Given the description of an element on the screen output the (x, y) to click on. 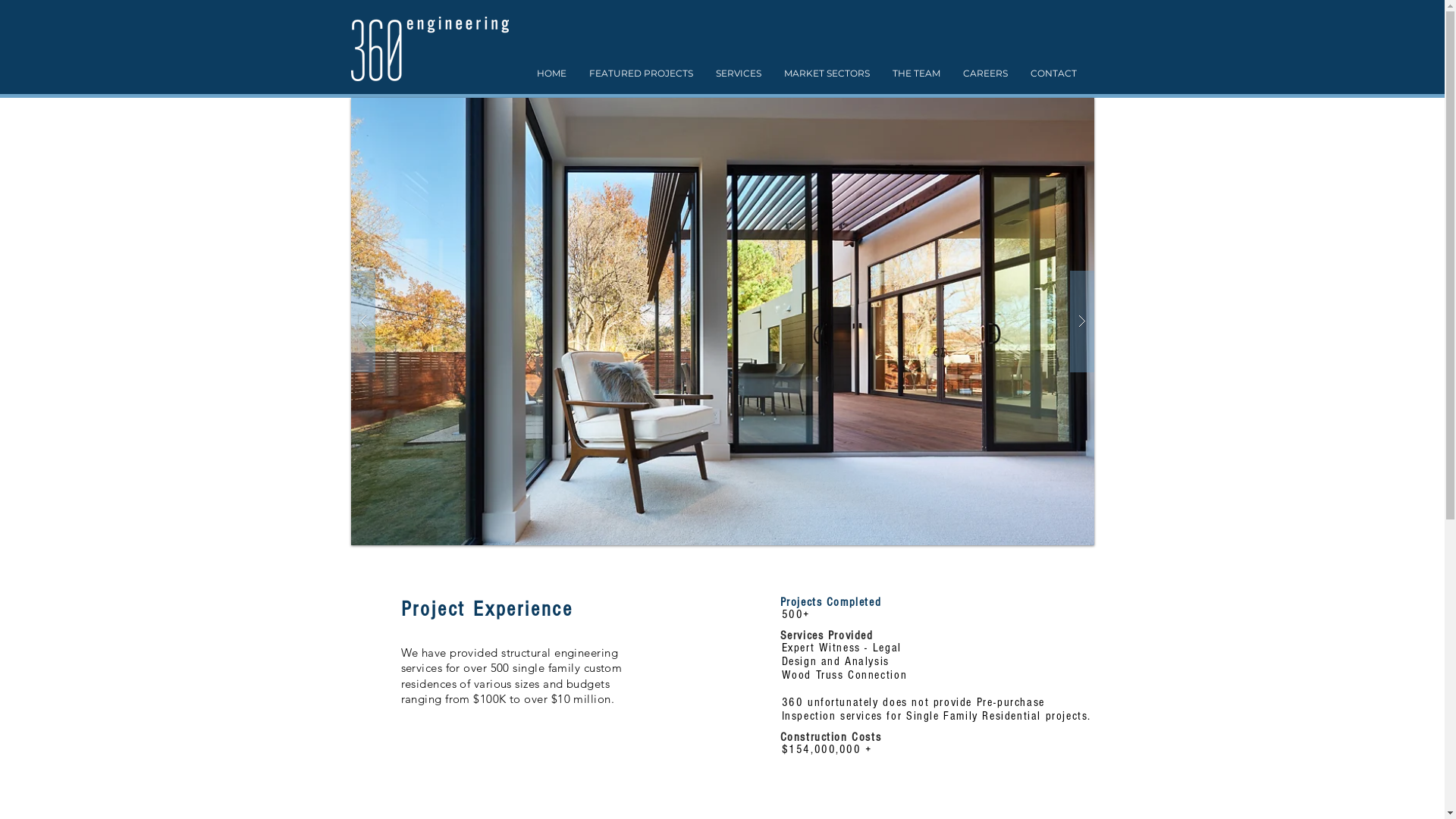
THE TEAM Element type: text (916, 73)
FEATURED PROJECTS Element type: text (640, 73)
SERVICES Element type: text (737, 73)
HOME Element type: text (550, 73)
MARKET SECTORS Element type: text (825, 73)
CONTACT Element type: text (1053, 73)
CAREERS Element type: text (984, 73)
